Given the description of an element on the screen output the (x, y) to click on. 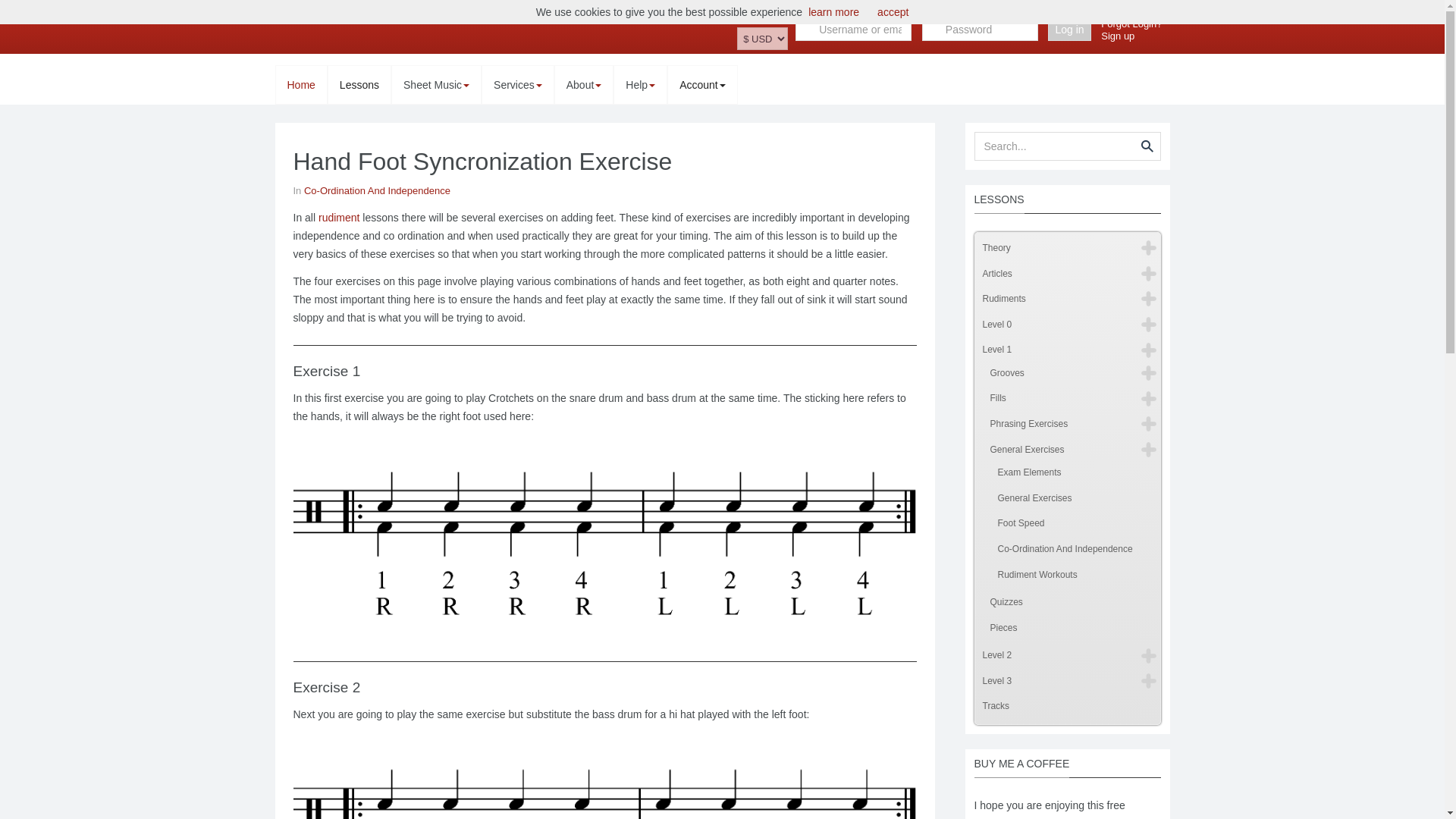
Home (301, 85)
Forgot Login? (1130, 23)
Sign up (1117, 35)
Lessons (359, 85)
Category:  (370, 190)
Log in (1069, 29)
